Given the description of an element on the screen output the (x, y) to click on. 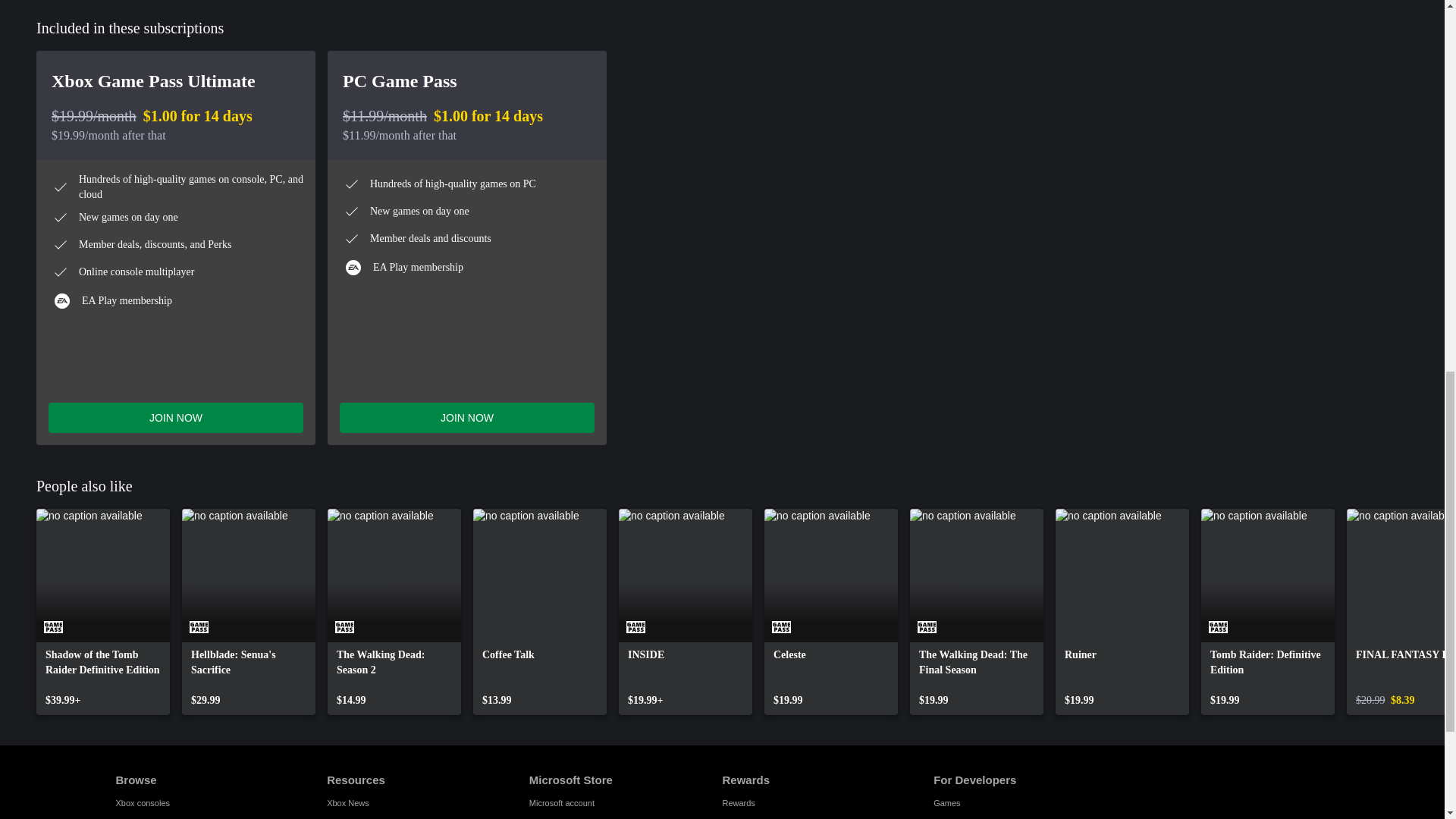
Coffee Talk (540, 611)
Tomb Raider: Definitive Edition (1268, 611)
Ruiner (1122, 611)
Celeste (831, 611)
The Walking Dead: Season 2 (394, 611)
Hellblade: Senua's Sacrifice (248, 611)
INSIDE (685, 611)
The Walking Dead: The Final Season (976, 611)
Shadow of the Tomb Raider Definitive Edition (103, 611)
